Given the description of an element on the screen output the (x, y) to click on. 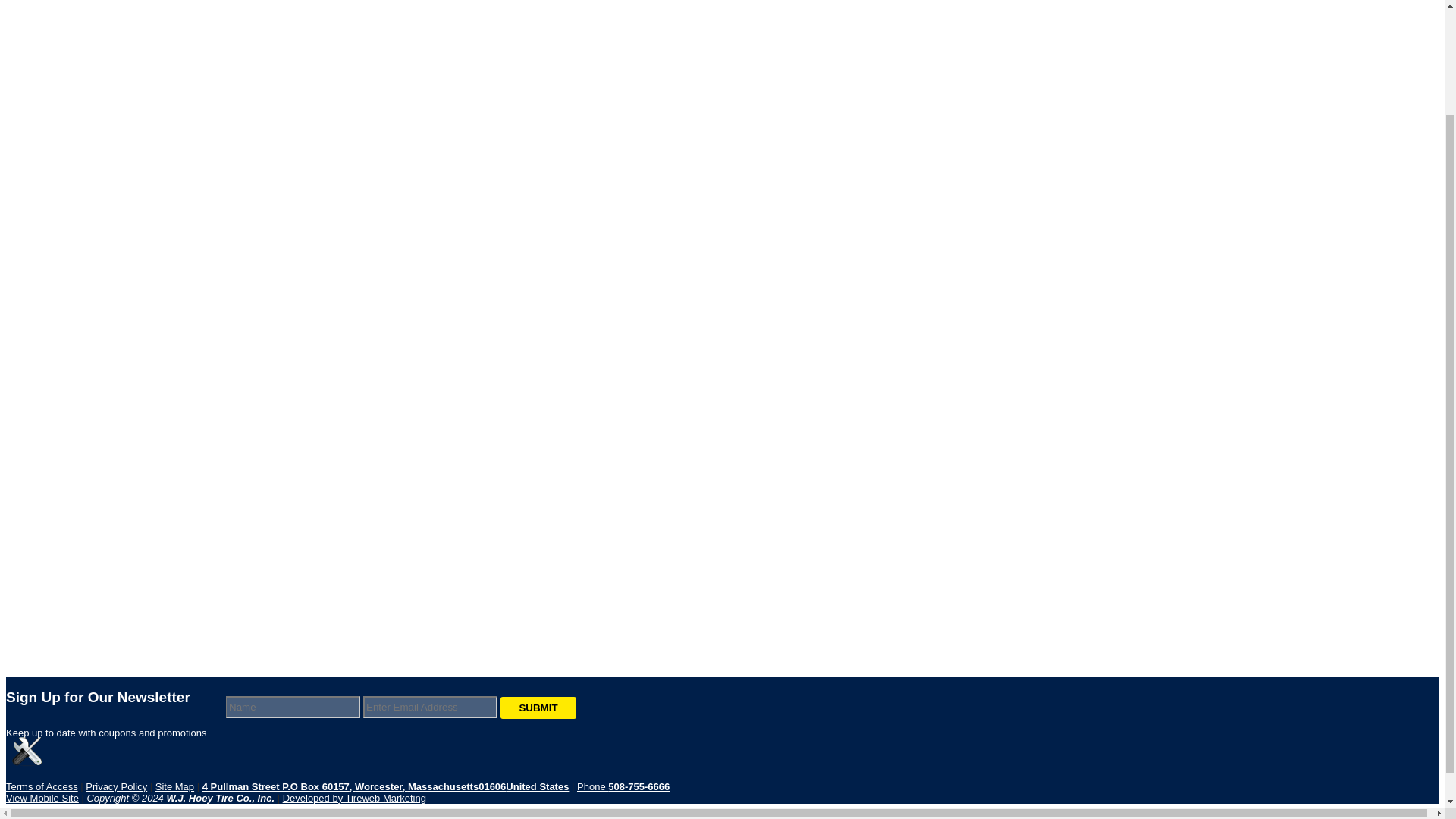
Terms of Access (41, 786)
Site Map (174, 786)
SUBMIT (538, 707)
Privacy Policy (116, 786)
View Mobile Site (41, 797)
Phone 508-755-6666 (622, 786)
Developed by Tireweb Marketing (354, 797)
